Given the description of an element on the screen output the (x, y) to click on. 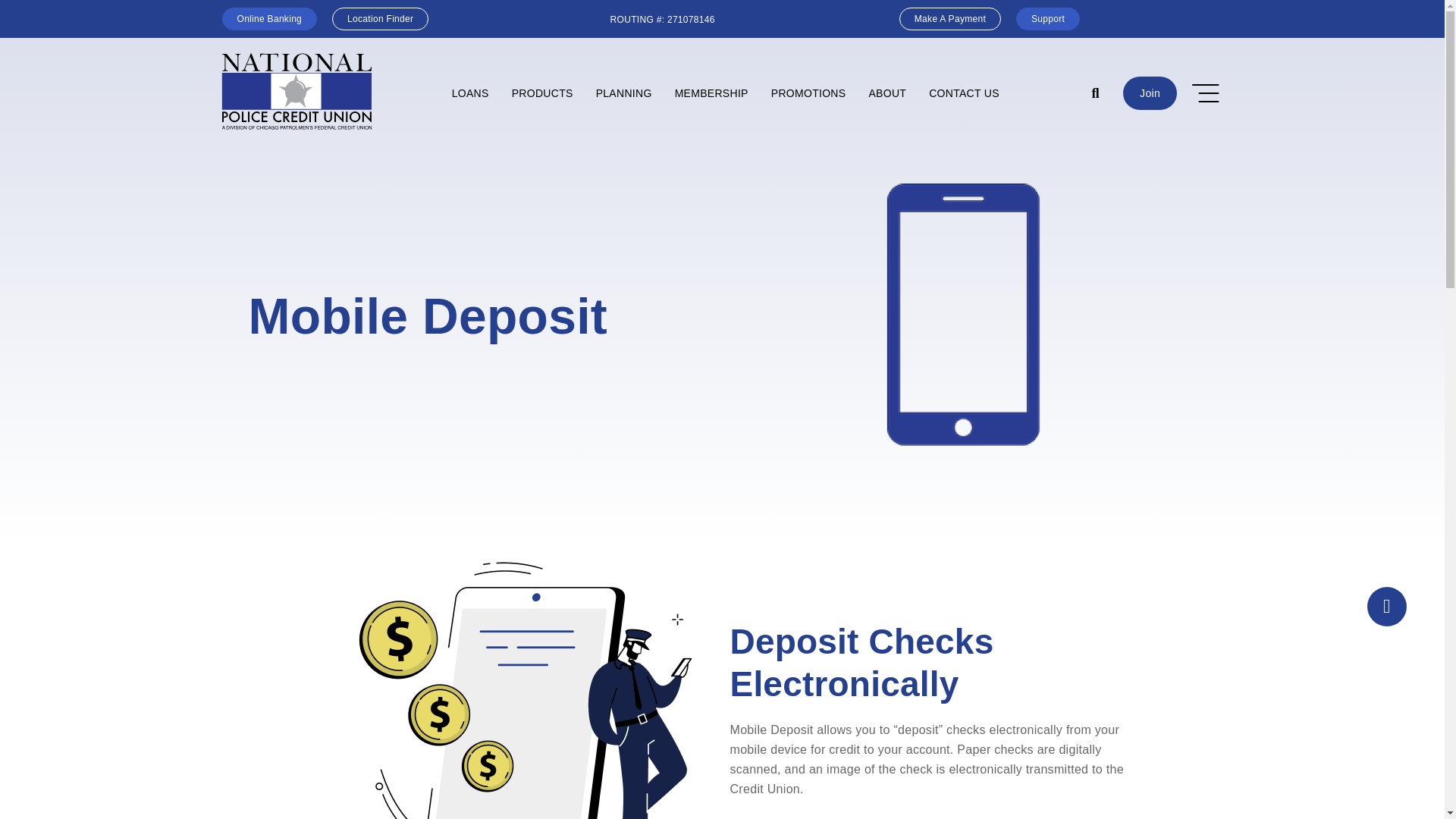
Online Banking (269, 18)
PRODUCTS (542, 92)
LOANS (470, 92)
Make A Payment (950, 18)
Support (1048, 18)
Location Finder (379, 18)
MEMBERSHIP (711, 92)
ABOUT (887, 92)
PLANNING (624, 92)
PROMOTIONS (808, 92)
